Given the description of an element on the screen output the (x, y) to click on. 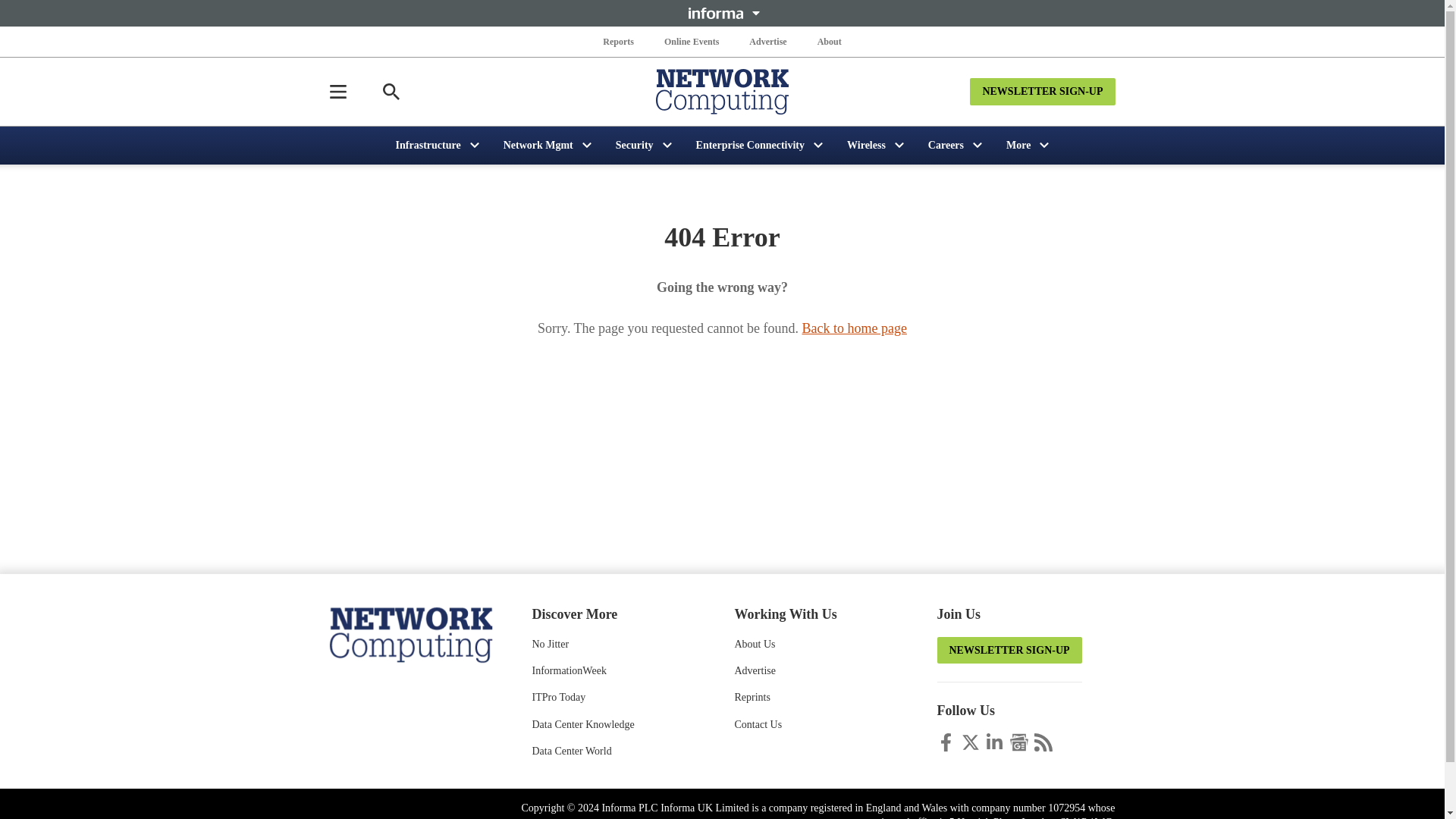
About (828, 41)
Advertise (767, 41)
NEWSLETTER SIGN-UP (1042, 90)
Network Computing Logo (722, 91)
Online Events (691, 41)
Reports (618, 41)
Network Computing (410, 633)
